Given the description of an element on the screen output the (x, y) to click on. 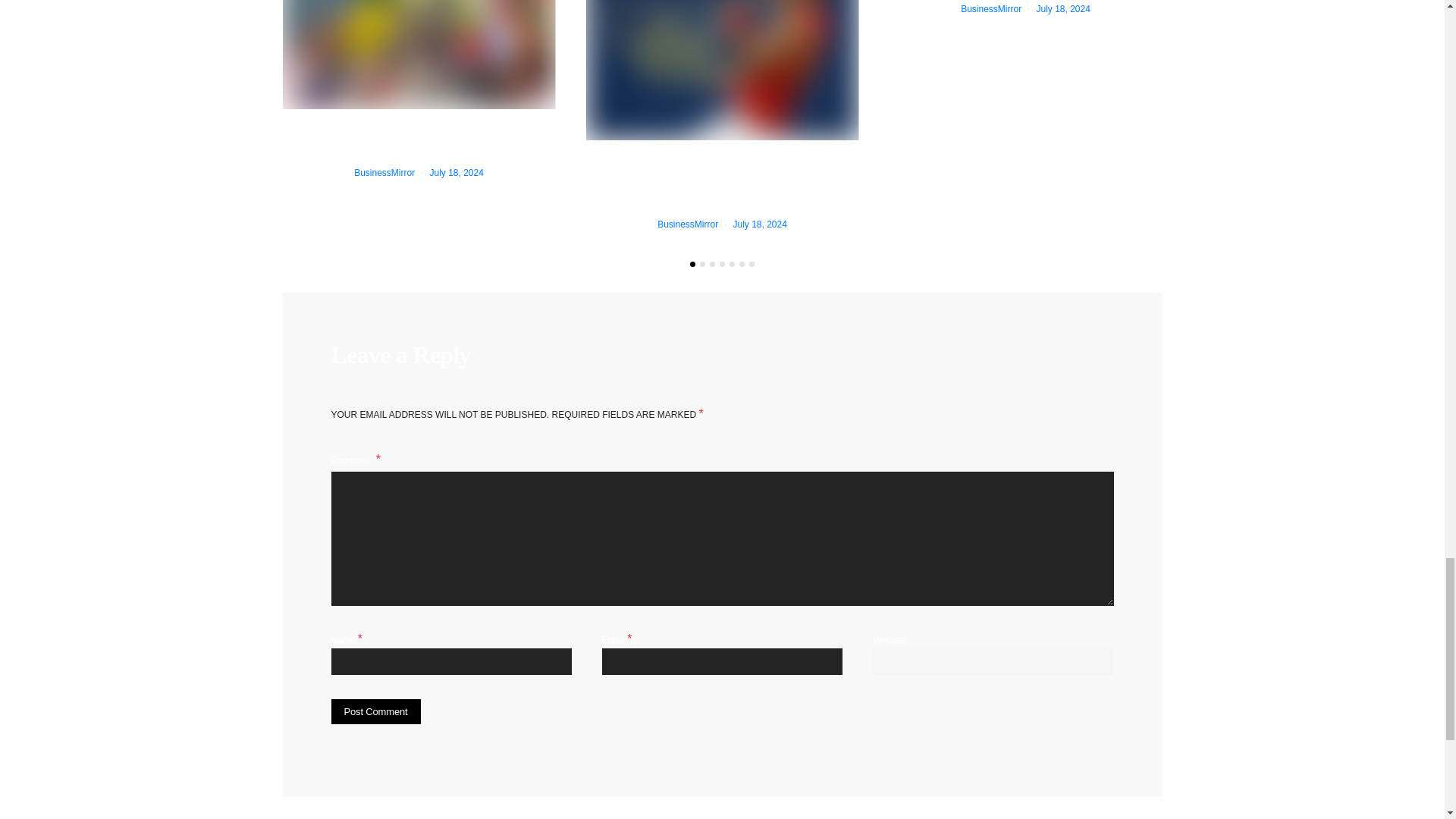
View all posts by BusinessMirror (687, 224)
Post Comment (375, 711)
View all posts by BusinessMirror (383, 172)
View all posts by BusinessMirror (991, 9)
